Given the description of an element on the screen output the (x, y) to click on. 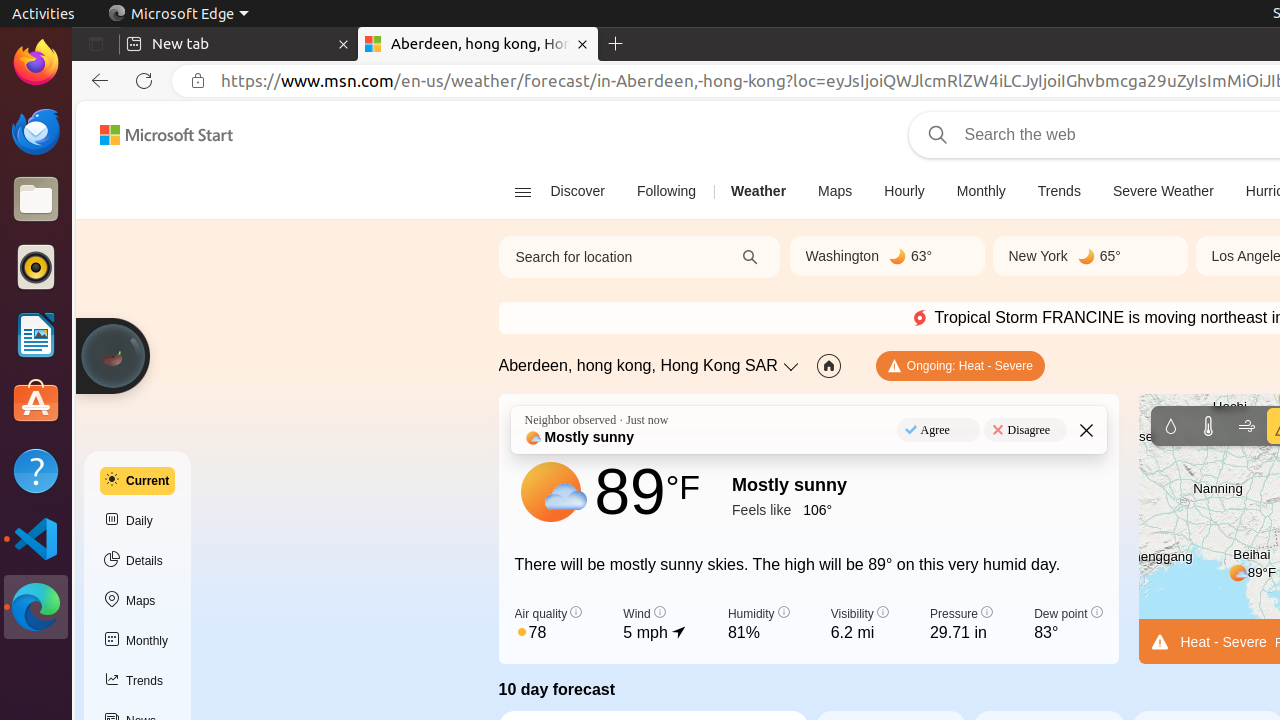
New Tab Element type: push-button (616, 44)
Aberdeen, hong kong, Hong Kong SAR weather forecast | Microsoft Weather Element type: page-tab (478, 44)
Air quality 78 Element type: link (548, 625)
Agree Element type: push-button (938, 430)
Set as primary location Element type: push-button (828, 366)
